Given the description of an element on the screen output the (x, y) to click on. 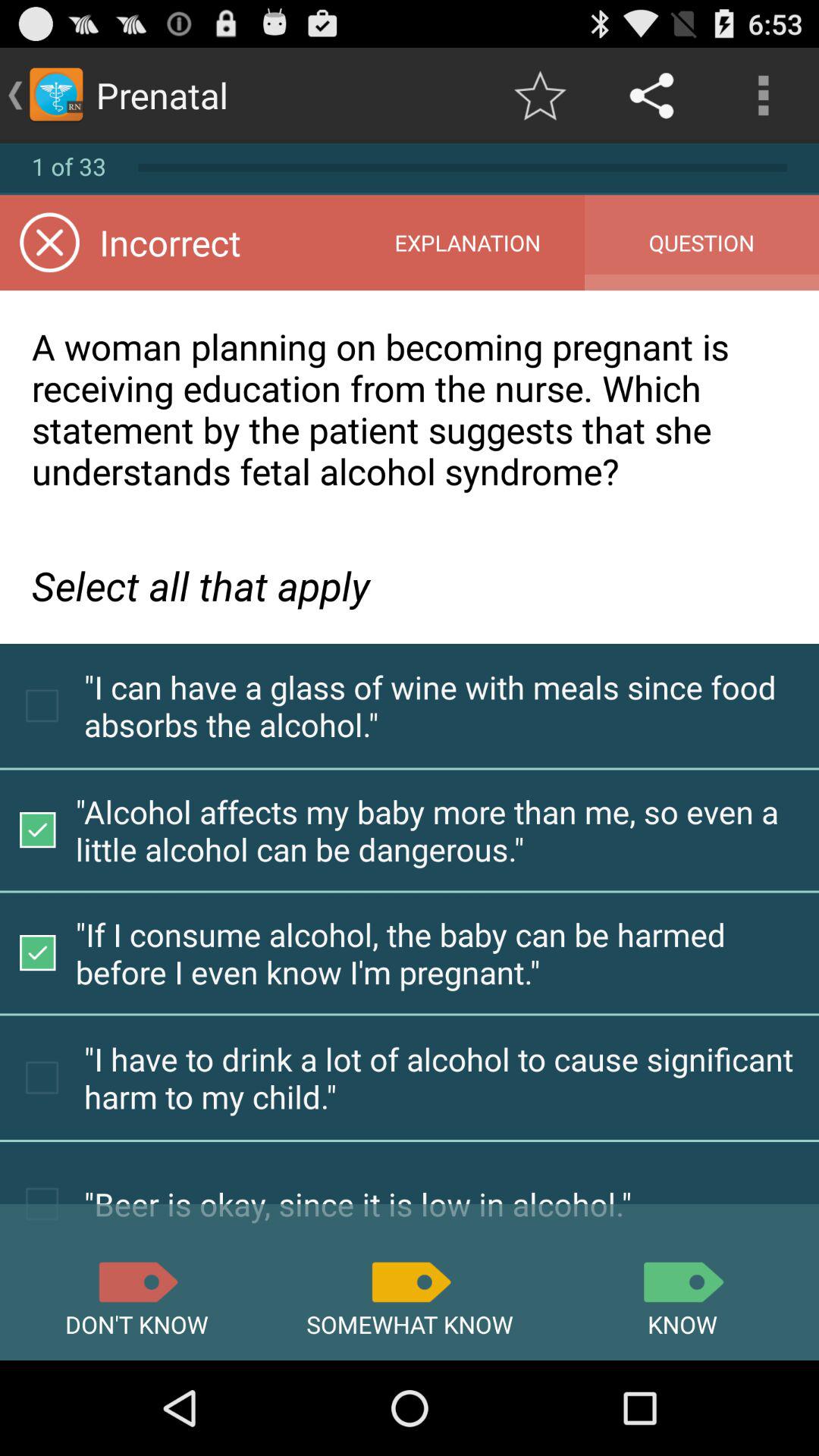
tap the button to the right of the explanation (701, 242)
